Given the description of an element on the screen output the (x, y) to click on. 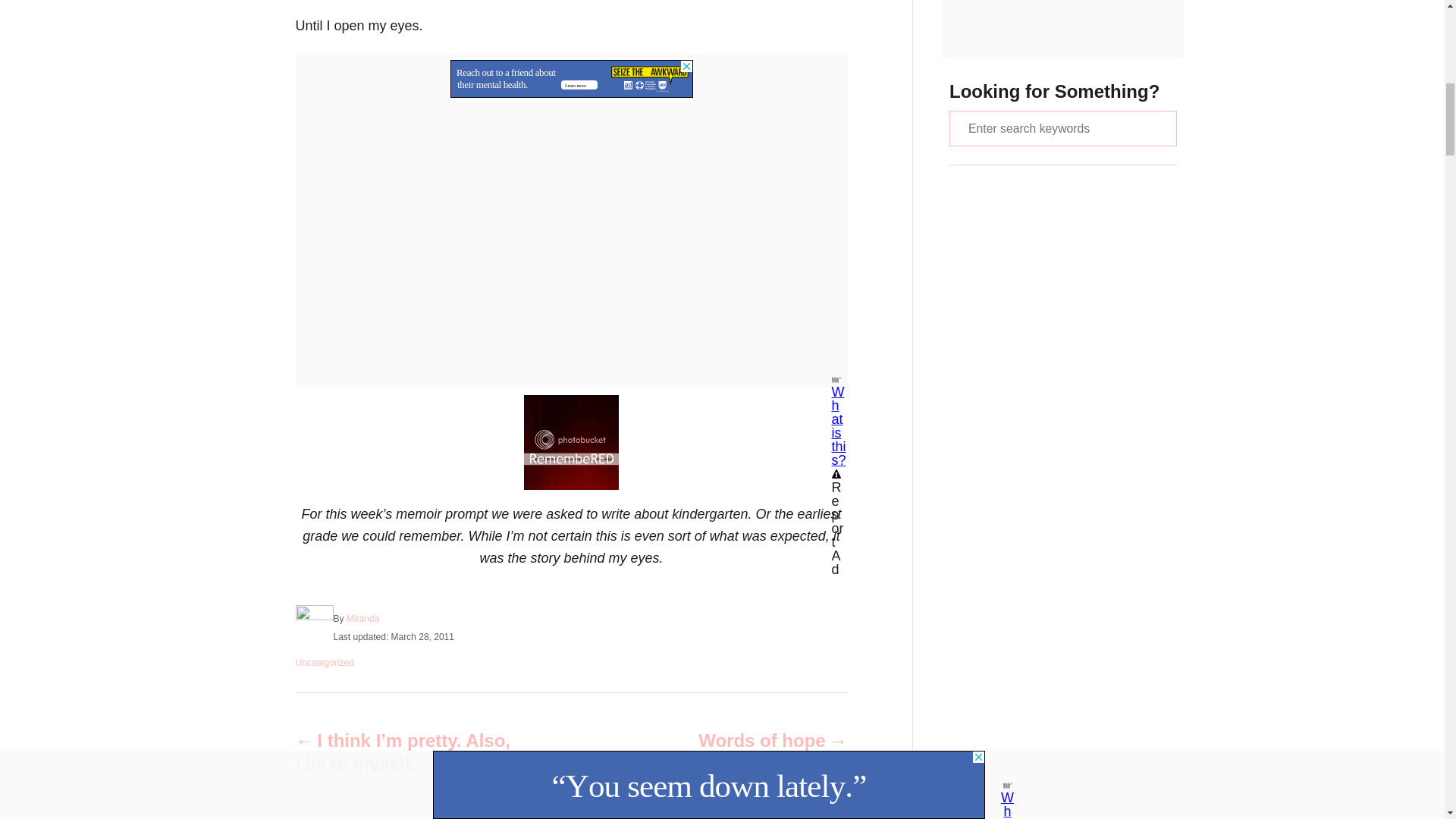
Search for: (1062, 128)
3rd party ad content (571, 72)
Words of hope (736, 740)
Miranda (362, 617)
Uncategorized (324, 661)
